Given the description of an element on the screen output the (x, y) to click on. 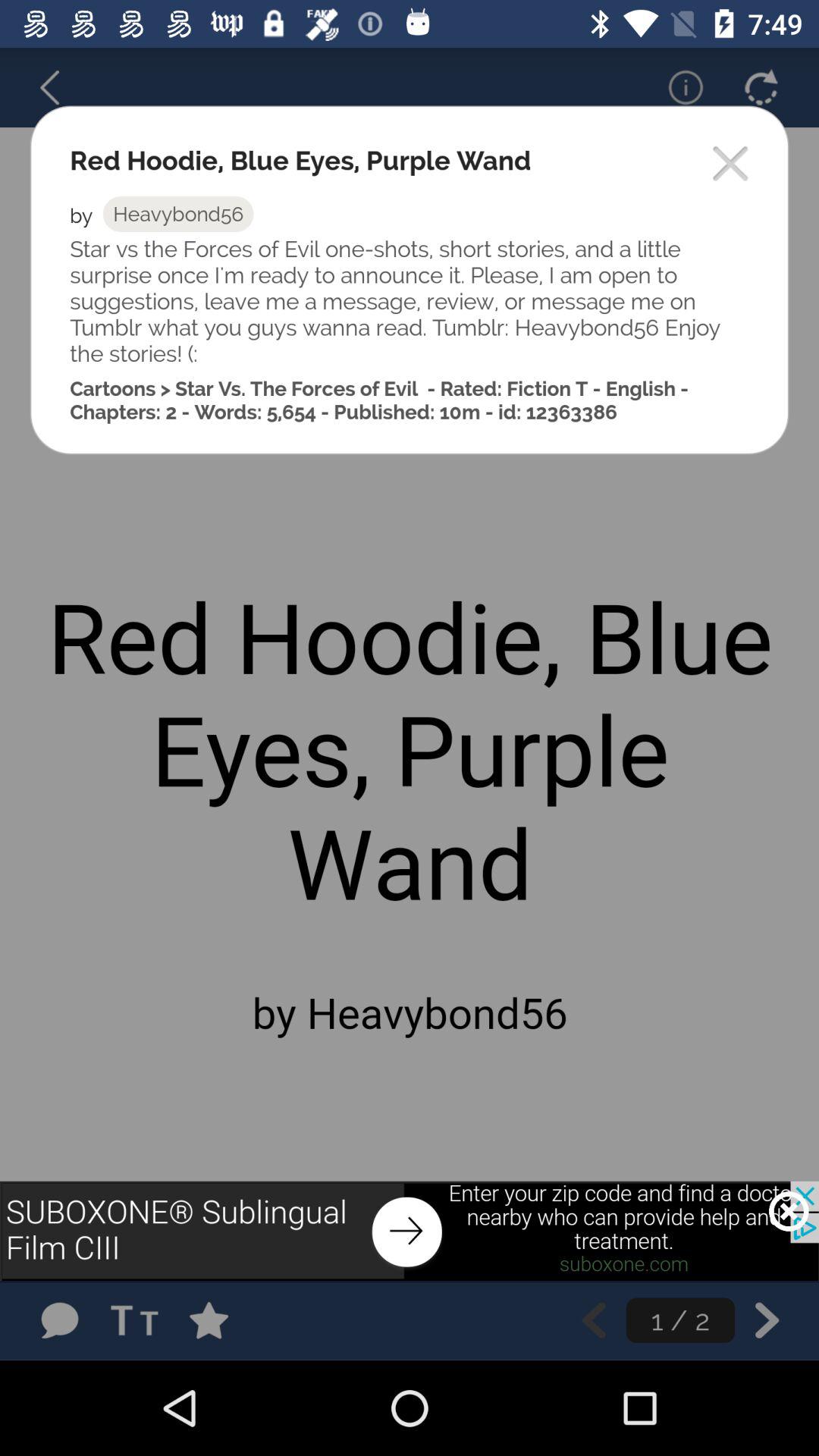
go back (59, 87)
